Given the description of an element on the screen output the (x, y) to click on. 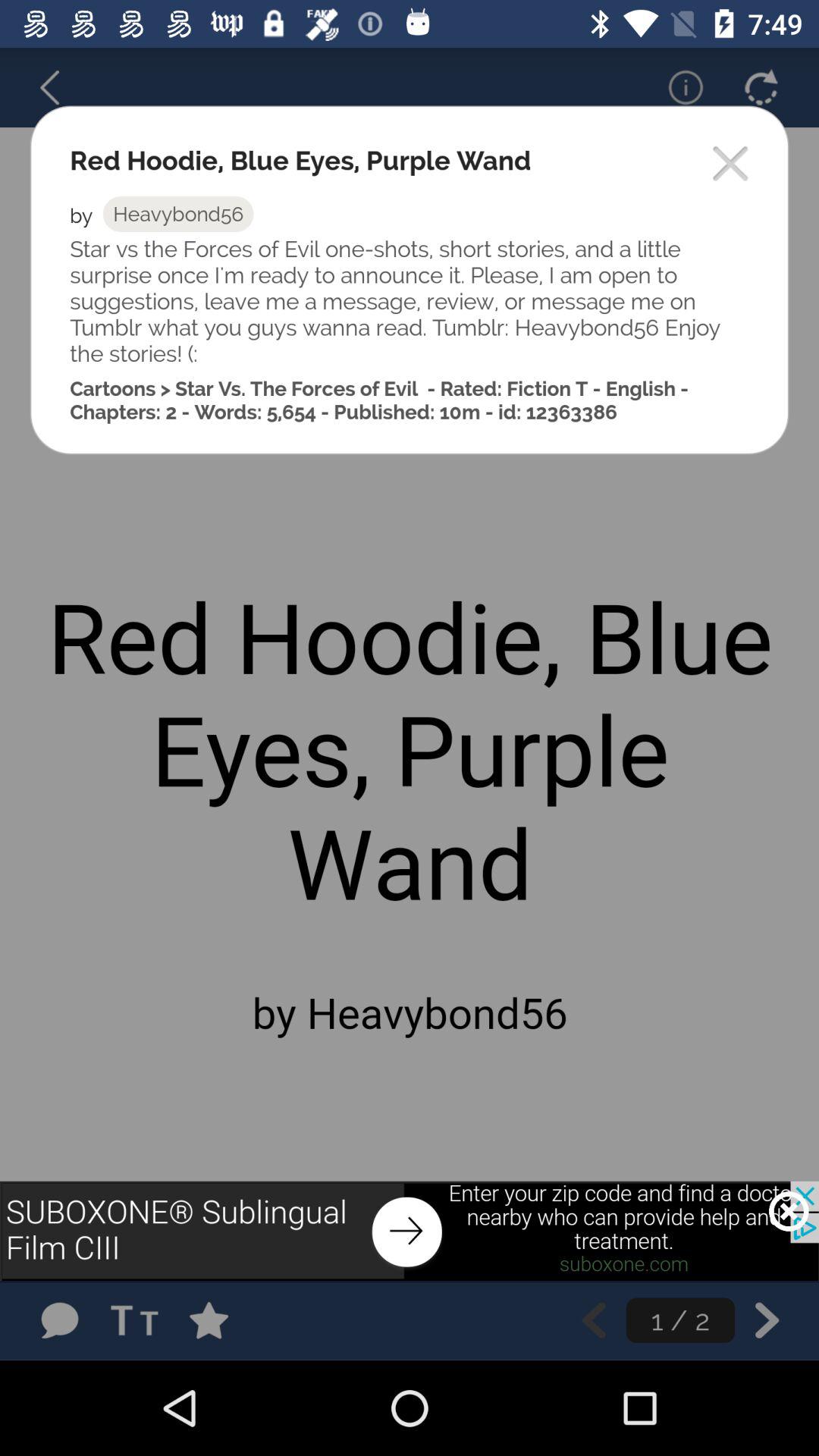
go back (59, 87)
